Given the description of an element on the screen output the (x, y) to click on. 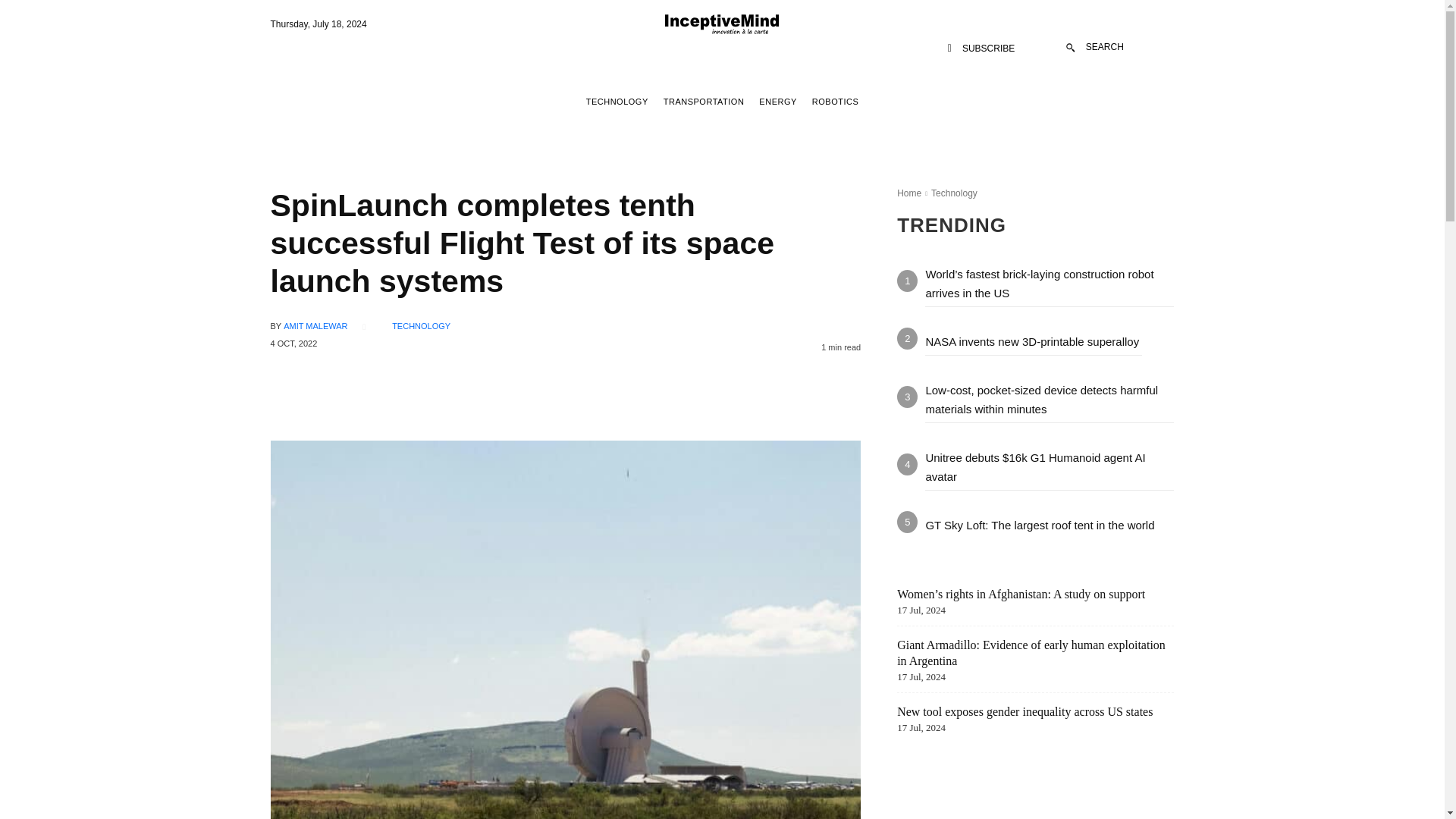
ENERGY (777, 101)
TECHNOLOGY (420, 326)
TECHNOLOGY (617, 101)
TRANSPORTATION (703, 101)
Home (908, 193)
SUBSCRIBE (980, 48)
ROBOTICS (834, 101)
SEARCH (1094, 46)
AMIT MALEWAR (315, 326)
SUBSCRIBE (980, 48)
View all posts in Technology (953, 193)
Technology (953, 193)
SEARCH (1094, 46)
